Given the description of an element on the screen output the (x, y) to click on. 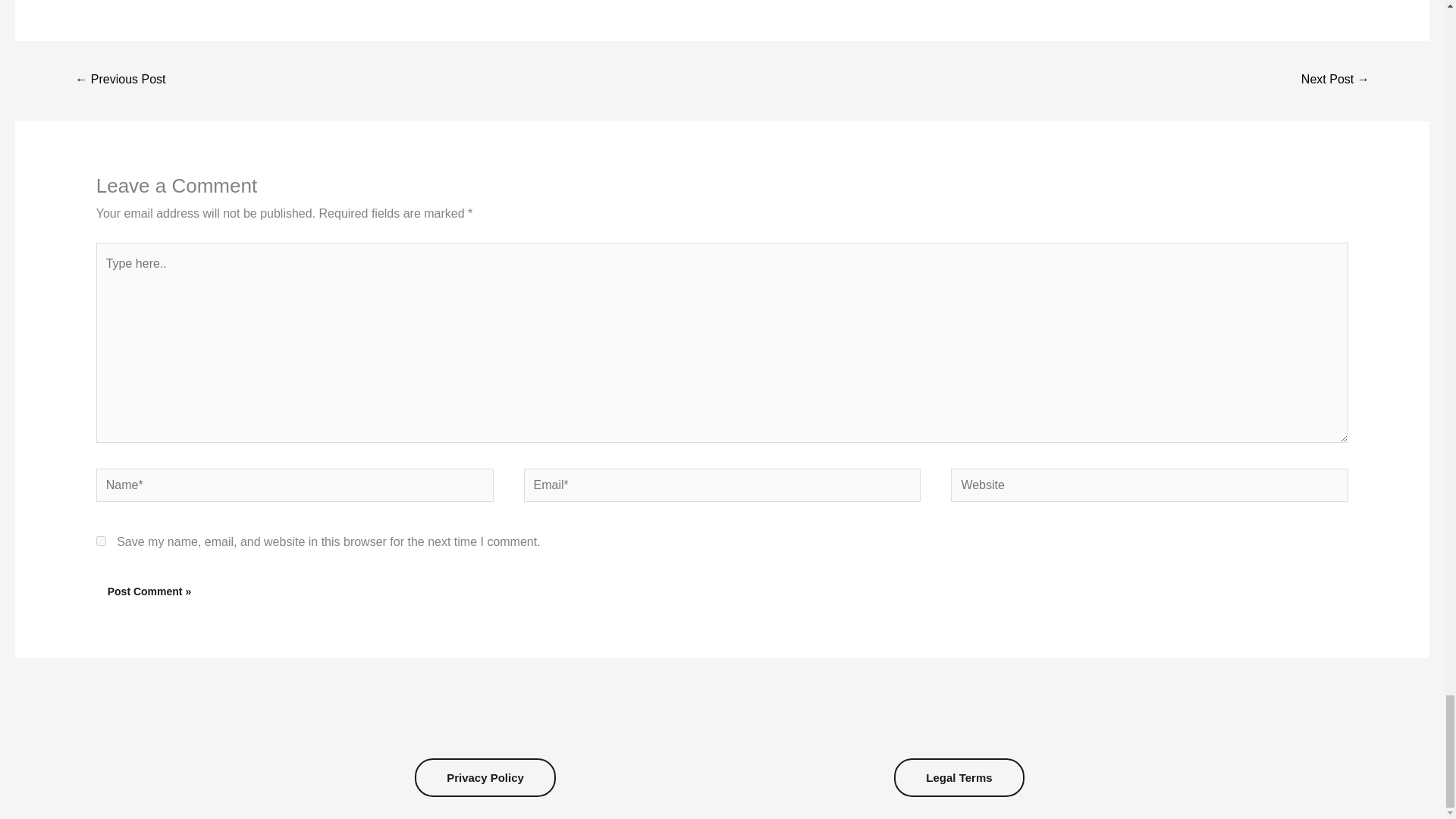
Privacy Policy (485, 777)
yes (101, 541)
Legal Terms (958, 777)
